Given the description of an element on the screen output the (x, y) to click on. 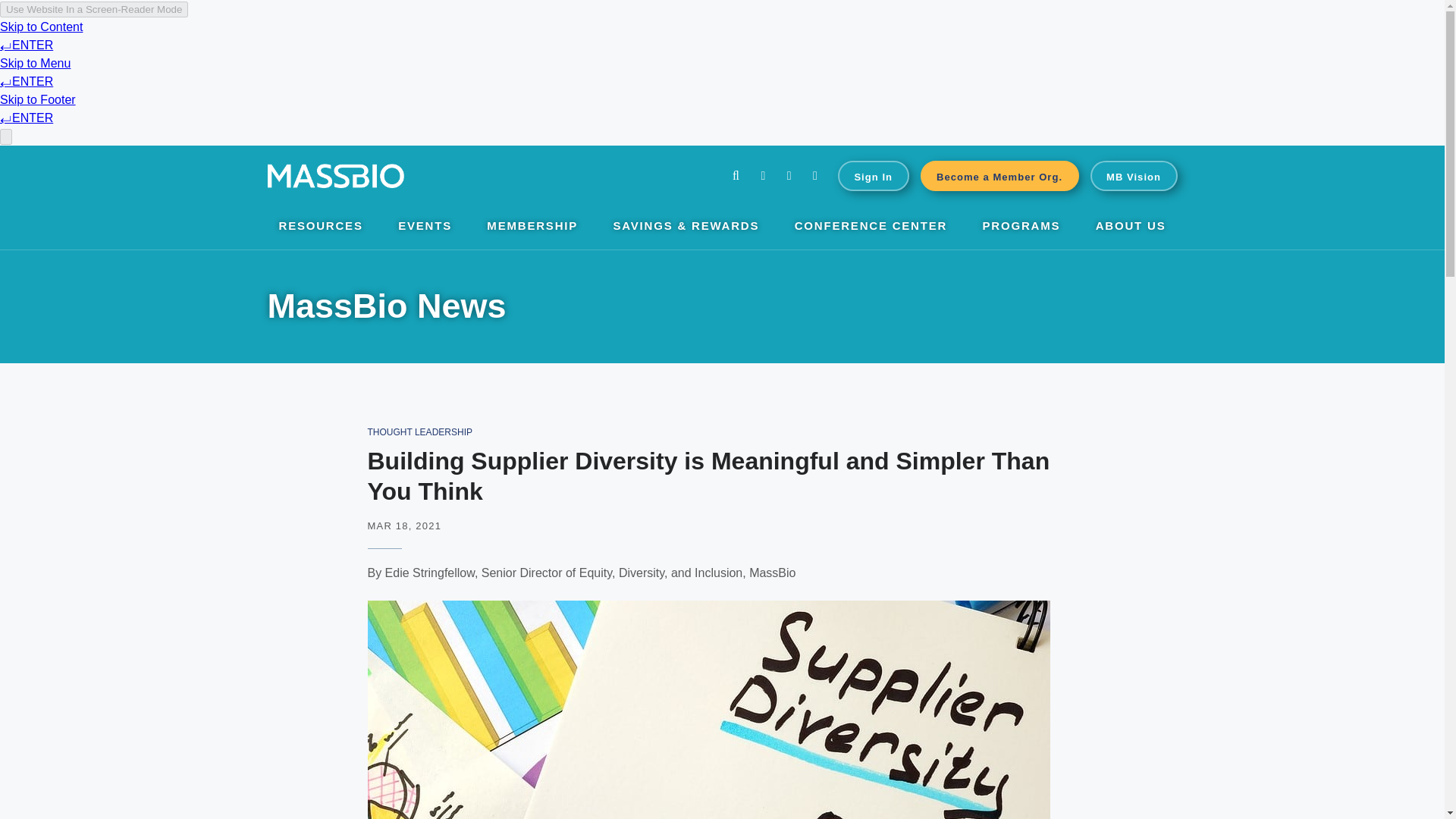
MB Vision (1133, 175)
RESOURCES (320, 227)
MEMBERSHIP (532, 227)
MassBio (334, 175)
Sign In (873, 175)
CONFERENCE CENTER (870, 227)
EVENTS (424, 227)
PROGRAMS (1021, 227)
Become a Member Org. (999, 175)
